Given the description of an element on the screen output the (x, y) to click on. 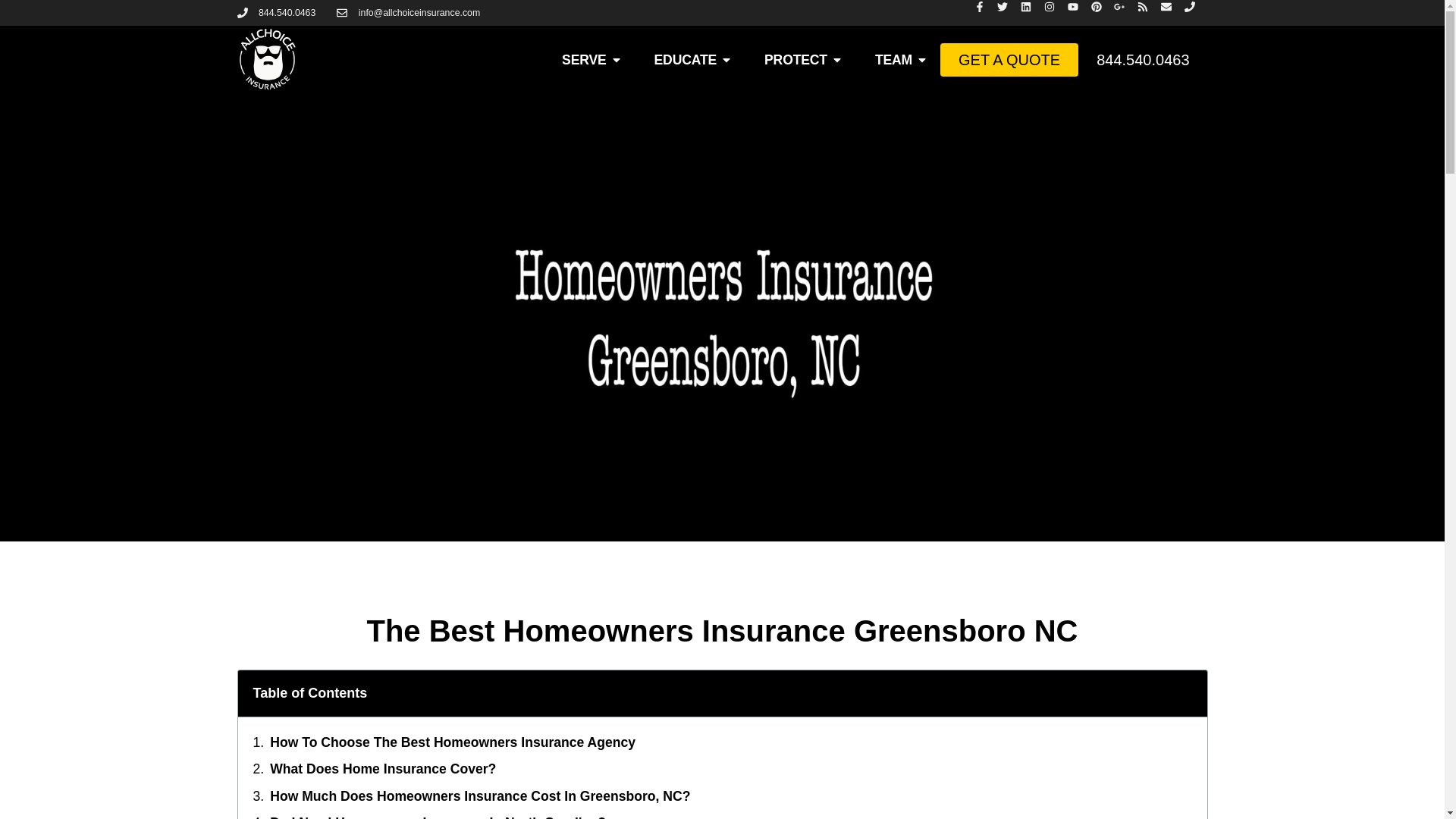
844.540.0463 (275, 12)
